Given the description of an element on the screen output the (x, y) to click on. 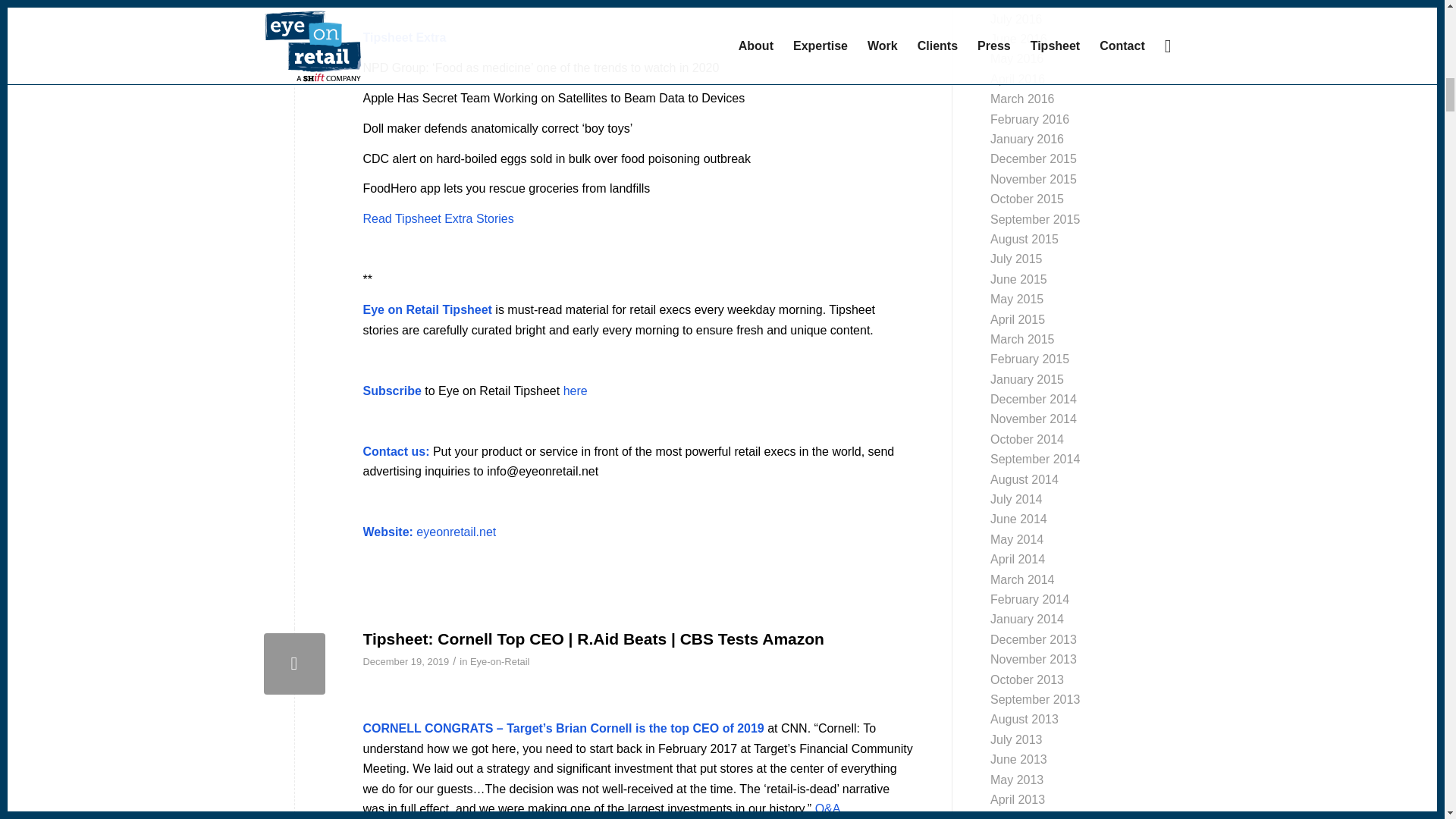
Read Tipsheet Extra Stories (437, 218)
Eye-on-Retail (499, 661)
here (575, 390)
eyeonretail.net (456, 531)
